Given the description of an element on the screen output the (x, y) to click on. 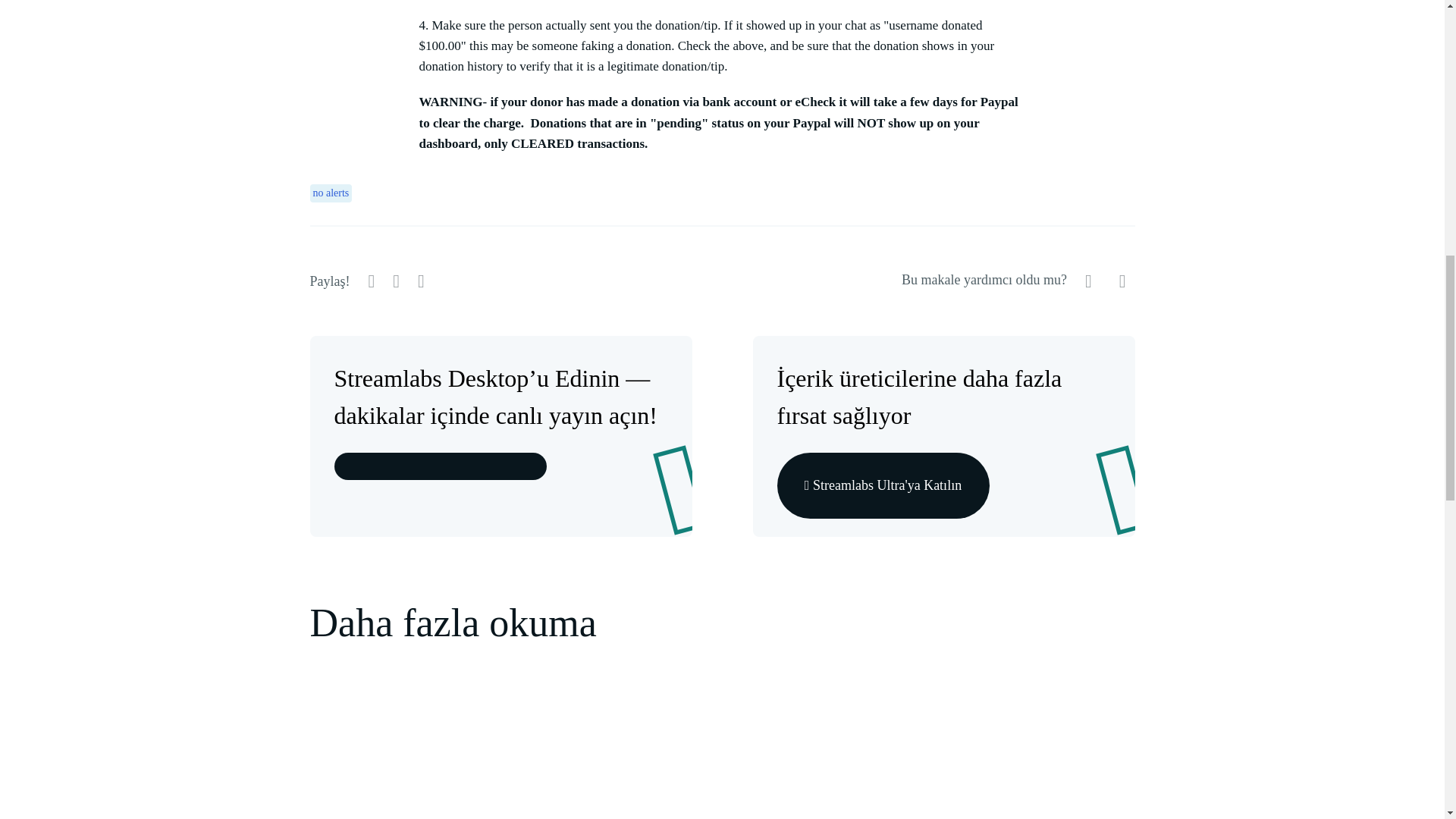
Share on Twitter (371, 282)
Share on Facebook (395, 282)
Copy link (421, 280)
